Given the description of an element on the screen output the (x, y) to click on. 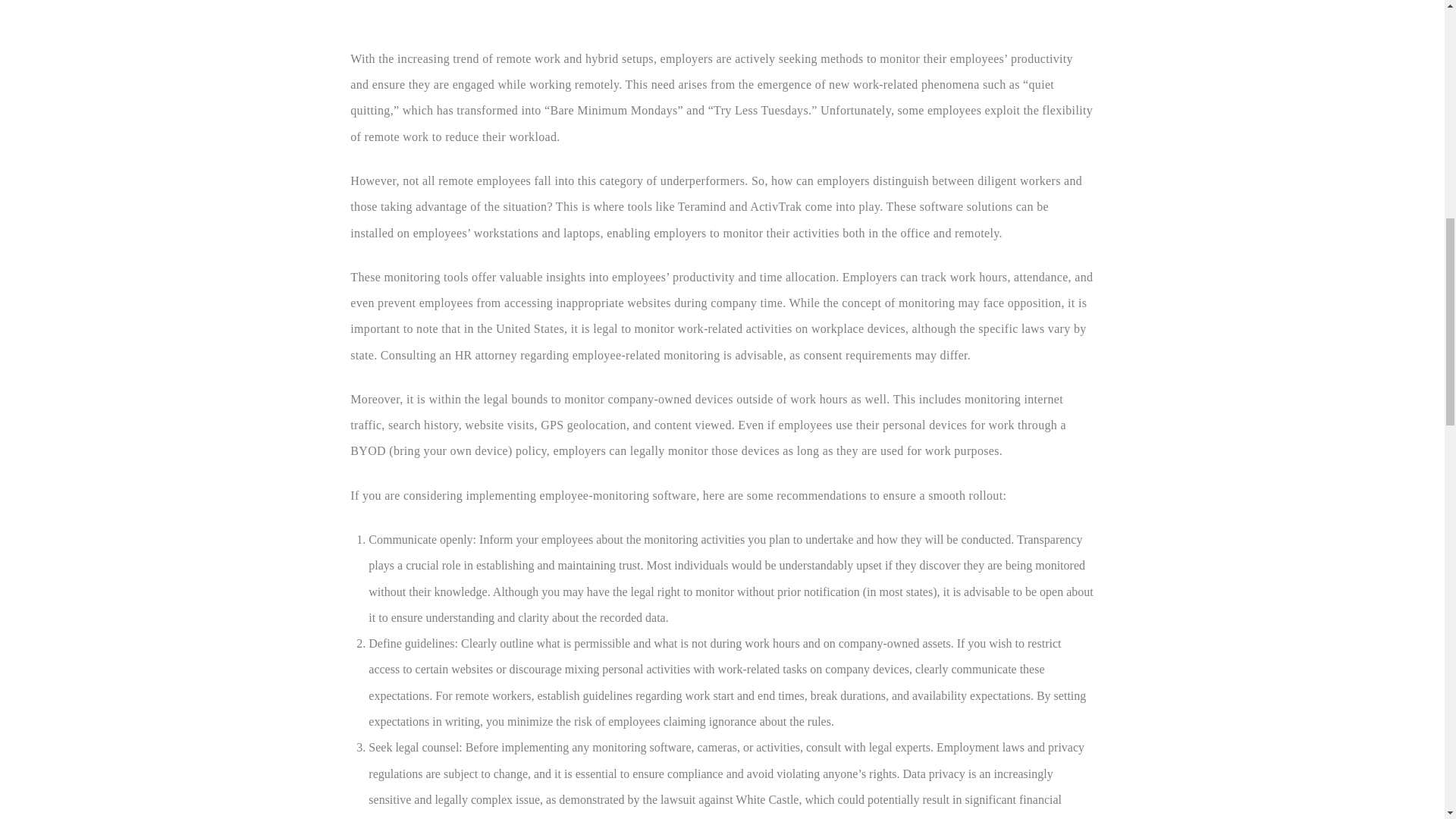
Posts by Steve Johnson (449, 3)
